Given the description of an element on the screen output the (x, y) to click on. 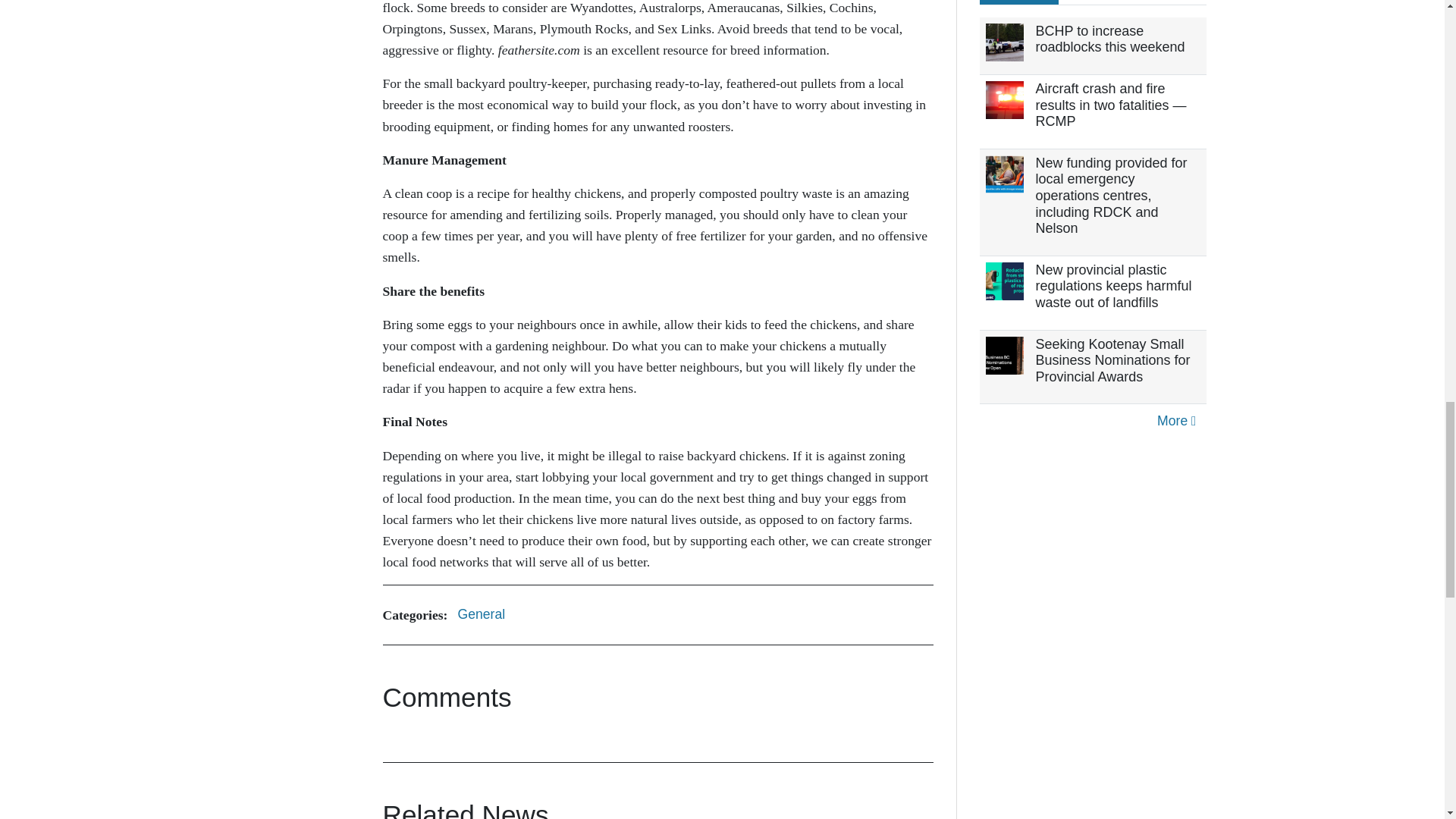
General (480, 614)
